Given the description of an element on the screen output the (x, y) to click on. 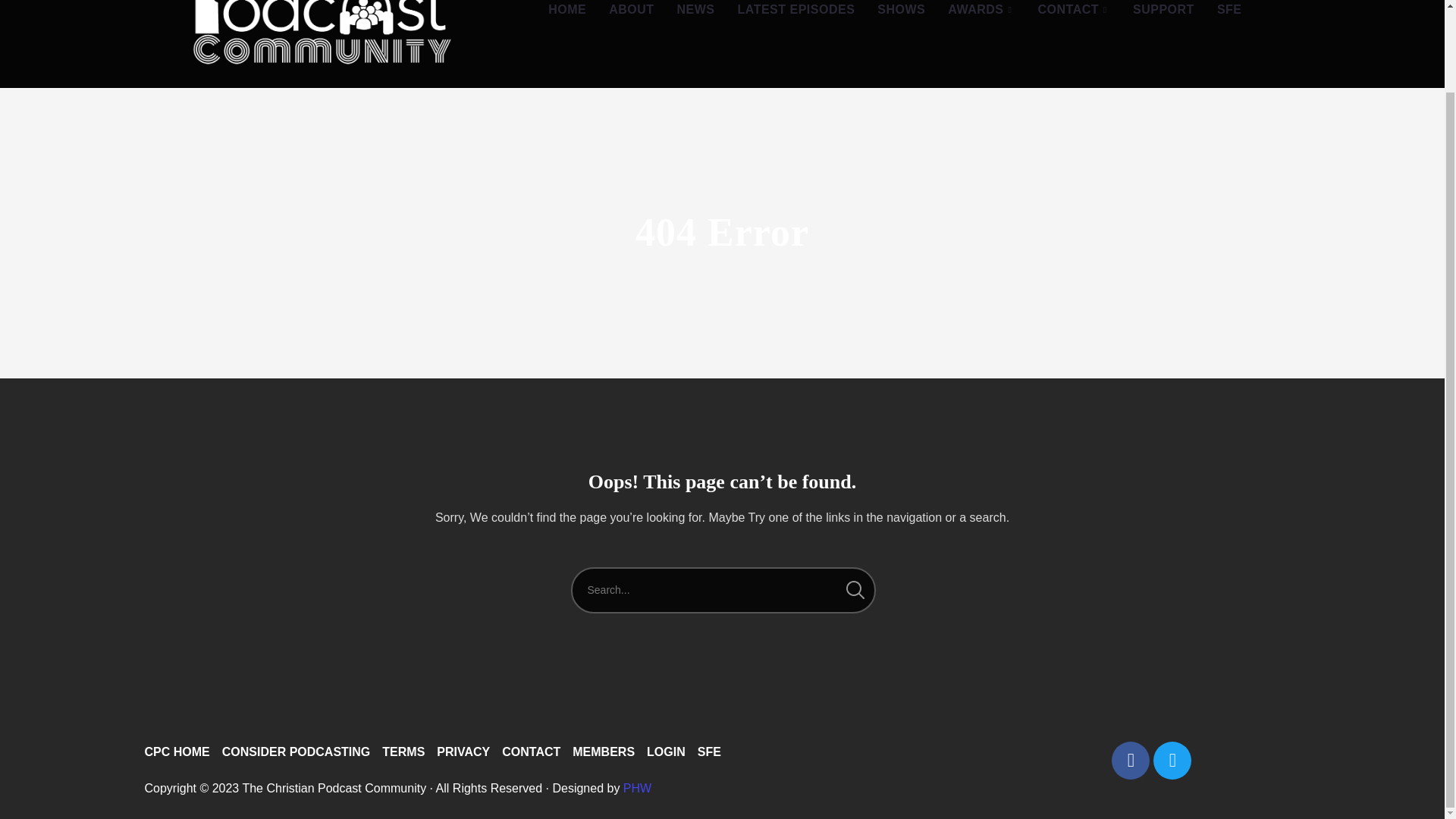
PRIVACY (462, 752)
CONTACT (531, 752)
SFE (708, 752)
CONSIDER PODCASTING (296, 752)
The Christian Podcast Community (323, 43)
TERMS (403, 752)
SHOWS (901, 18)
HOME (566, 18)
LATEST EPISODES (796, 18)
CPC HOME (176, 752)
SUPPORT (1163, 18)
PHW (636, 788)
AWARDS (981, 18)
CONTACT (1074, 18)
ABOUT (630, 18)
